Given the description of an element on the screen output the (x, y) to click on. 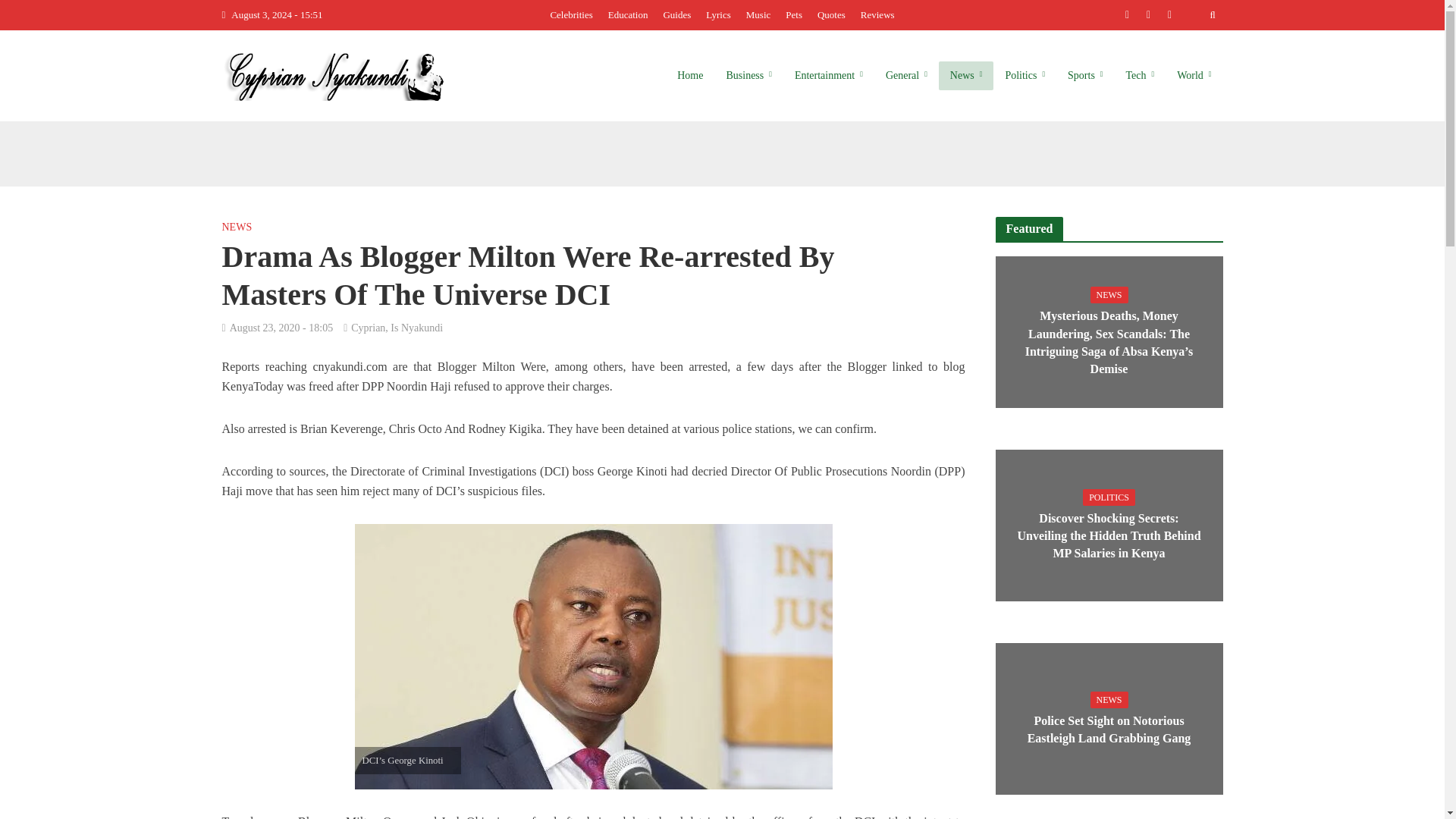
Pets (793, 15)
Music (758, 15)
Home (689, 75)
Guides (676, 15)
Reviews (877, 15)
Lyrics (718, 15)
Entertainment (829, 75)
Education (627, 15)
Business (748, 75)
Quotes (831, 15)
Celebrities (570, 15)
